Given the description of an element on the screen output the (x, y) to click on. 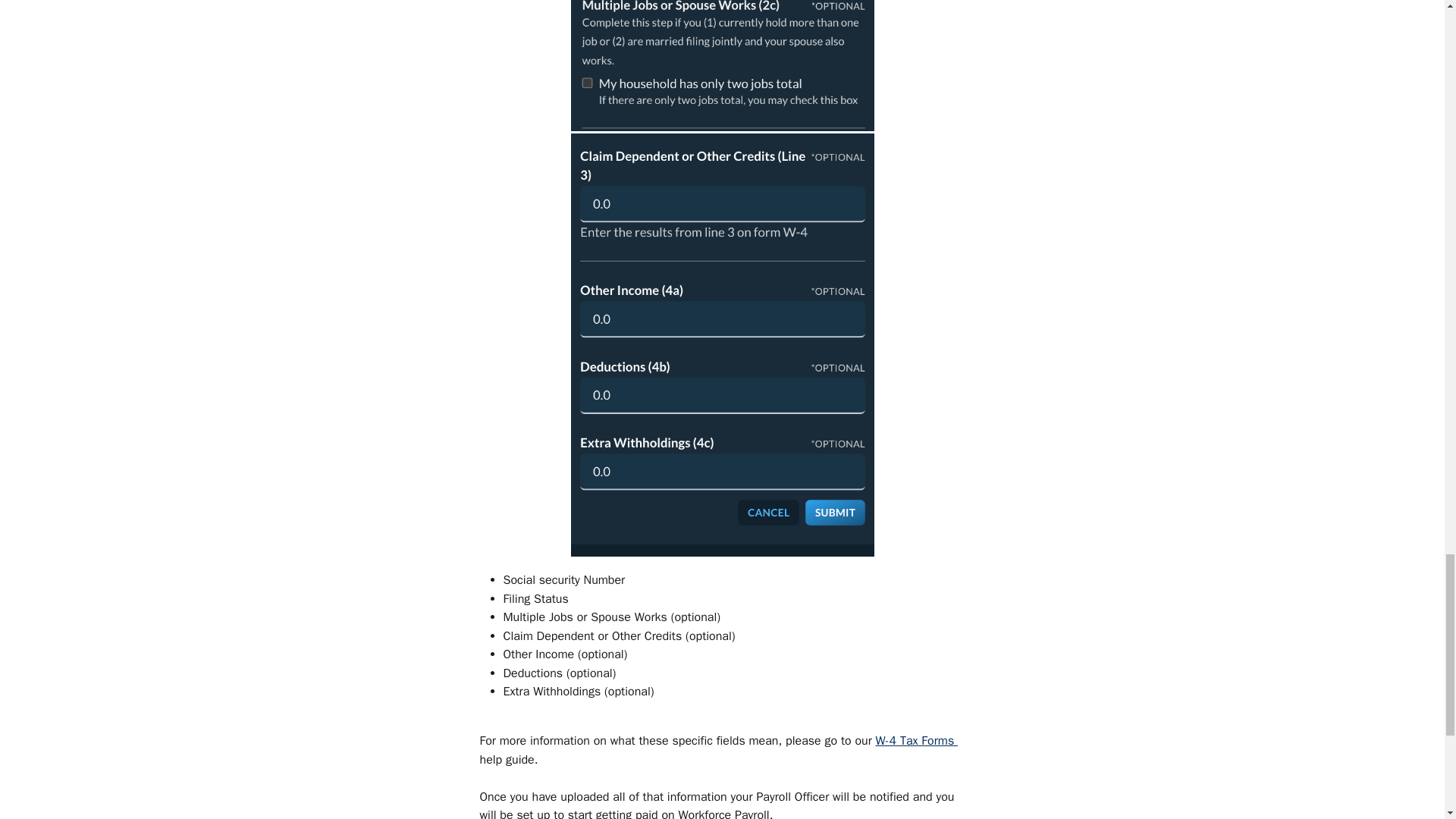
W-4 Tax Forms (917, 740)
